Given the description of an element on the screen output the (x, y) to click on. 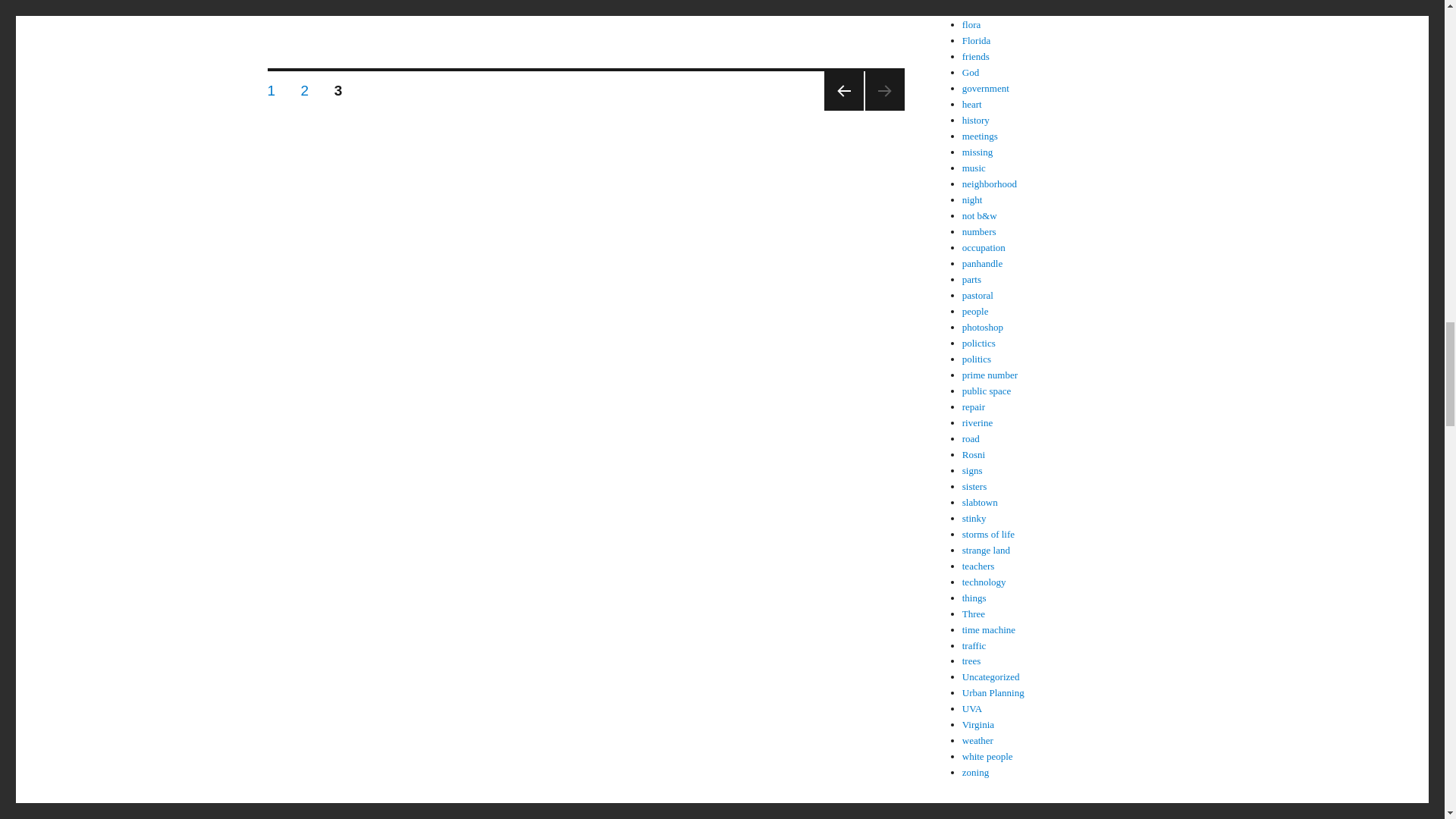
PREVIOUS PAGE (843, 90)
